Given the description of an element on the screen output the (x, y) to click on. 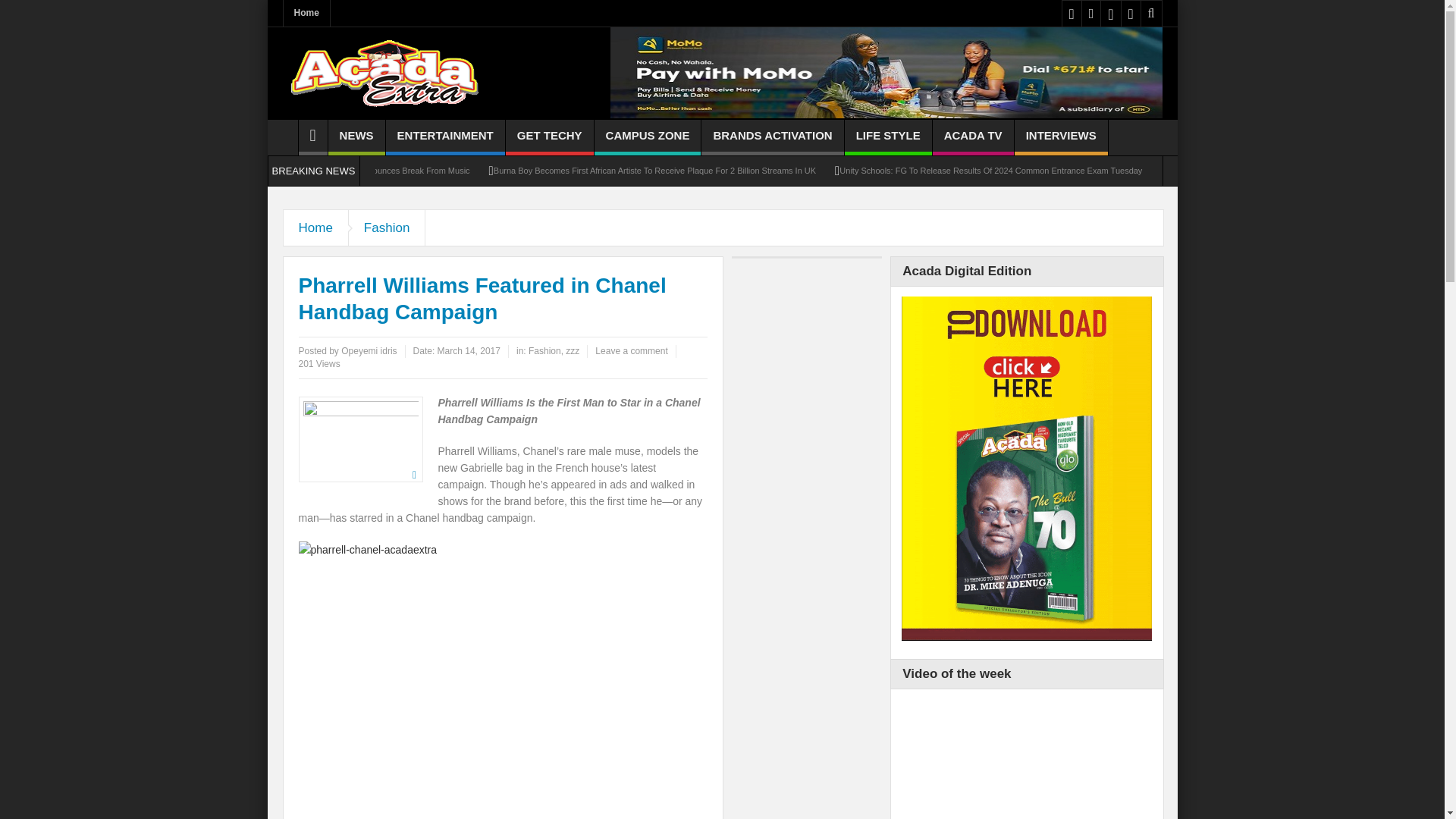
INTERVIEWS (1061, 137)
LIFE STYLE (887, 137)
BRANDS ACTIVATION (772, 137)
ENTERTAINMENT (445, 137)
Fashion (387, 227)
GET TECHY (549, 137)
NEWS (357, 137)
CAMPUS ZONE (647, 137)
ACADA TV (973, 137)
Home (306, 13)
Acada extra (384, 73)
